Given the description of an element on the screen output the (x, y) to click on. 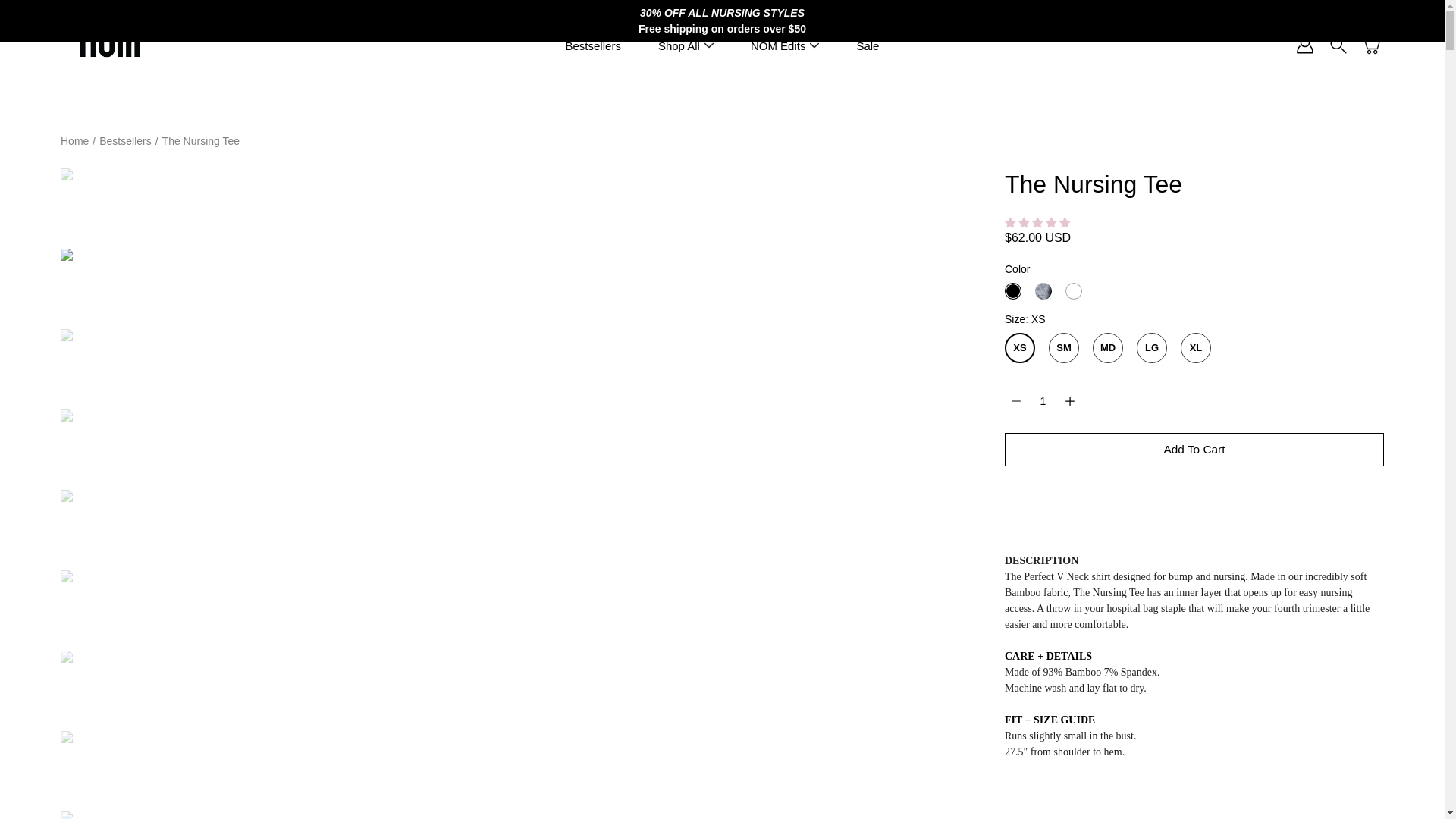
Shop All (679, 45)
Heather Grey (1043, 290)
NOM Edits (778, 45)
White (1073, 290)
1 (1042, 400)
MD (1107, 347)
Black (1013, 290)
Sale (867, 45)
LG (1152, 347)
XS (1019, 347)
